Given the description of an element on the screen output the (x, y) to click on. 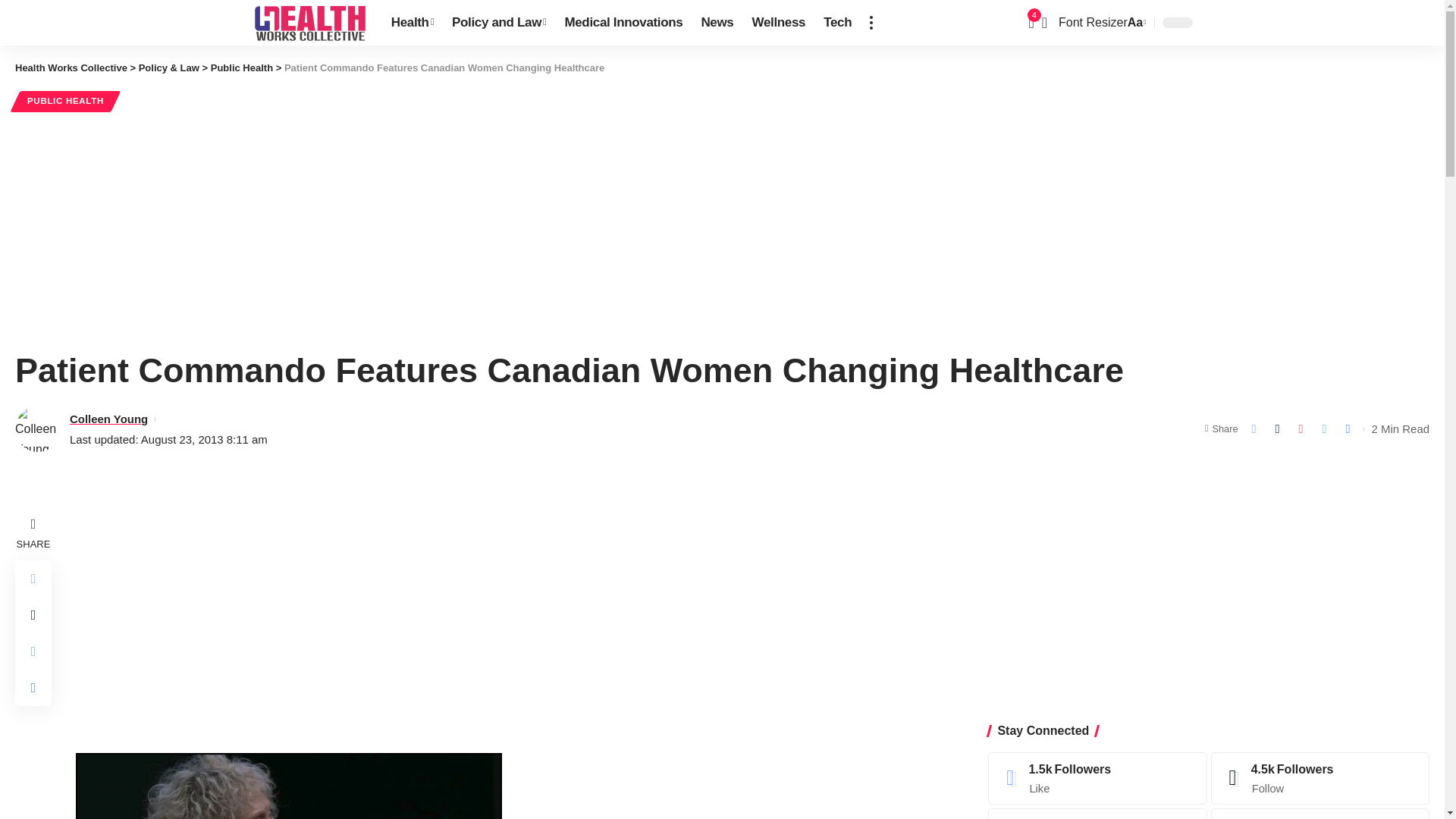
Tech (836, 22)
Go to the Public Health Category archives. (242, 67)
Health (411, 22)
Medical Innovations (622, 22)
Wellness (778, 22)
Go to Health Works Collective. (71, 67)
Policy and Law (498, 22)
Health Works Collective (308, 22)
News (716, 22)
